Given the description of an element on the screen output the (x, y) to click on. 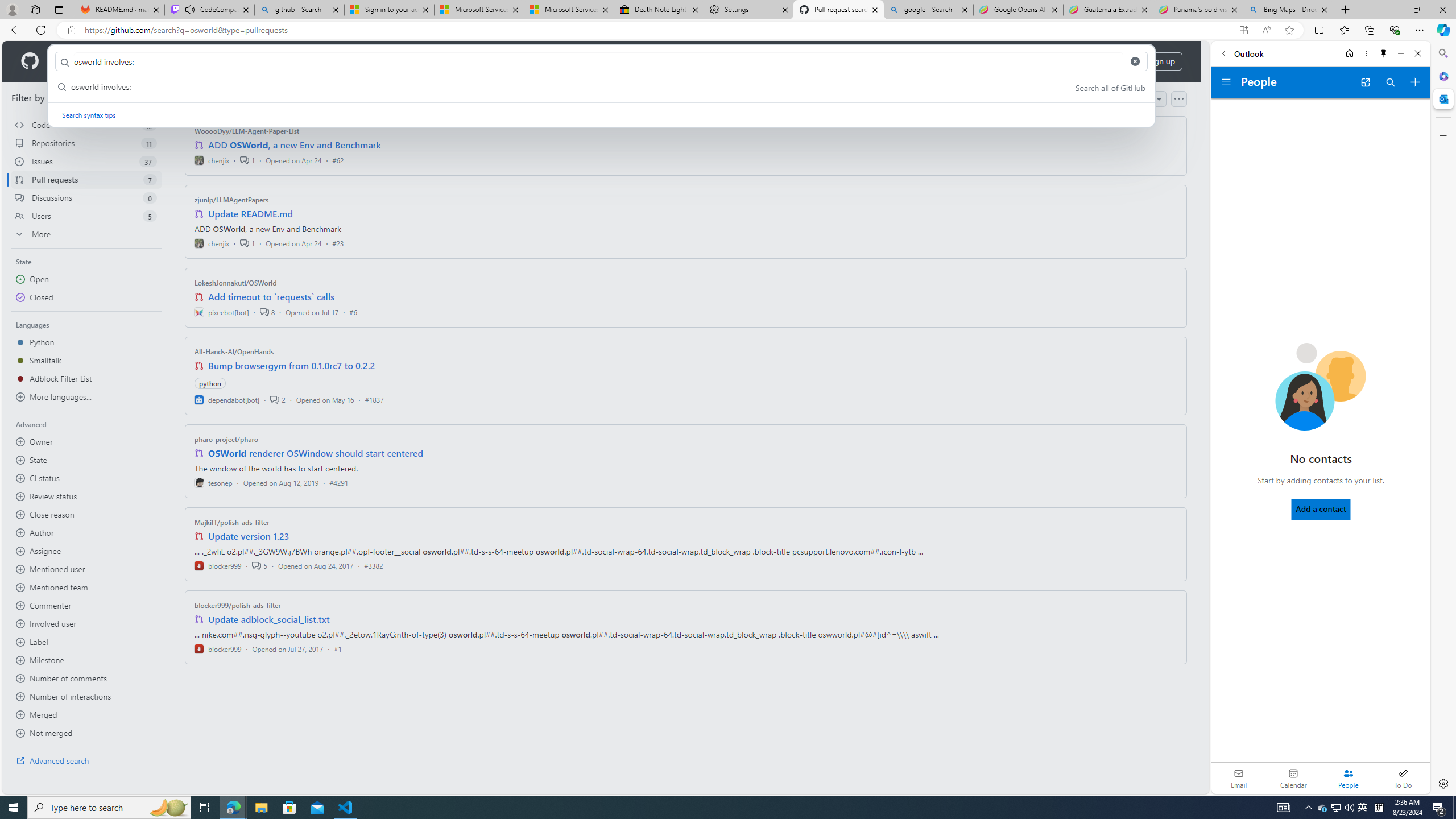
tesonep (213, 482)
#62 (337, 159)
blocker999 (218, 648)
#1 (337, 648)
